Given the description of an element on the screen output the (x, y) to click on. 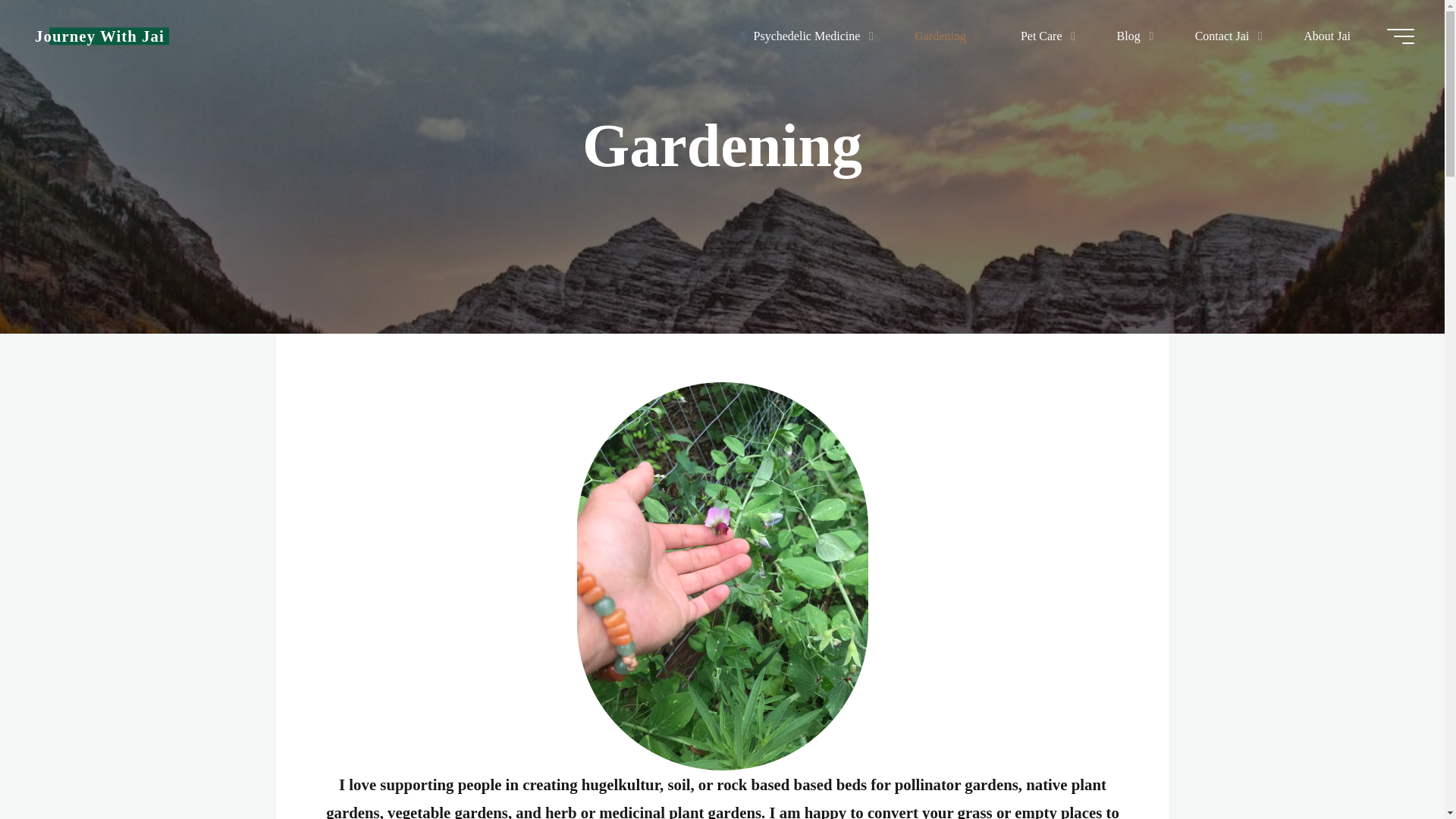
Blog (1131, 35)
Psychedelic Medicine (810, 35)
Read more (721, 239)
Journey With Jai (99, 36)
Pet Care (1044, 35)
Gardening (942, 35)
Guided by Earth's Wisdom (99, 36)
